Given the description of an element on the screen output the (x, y) to click on. 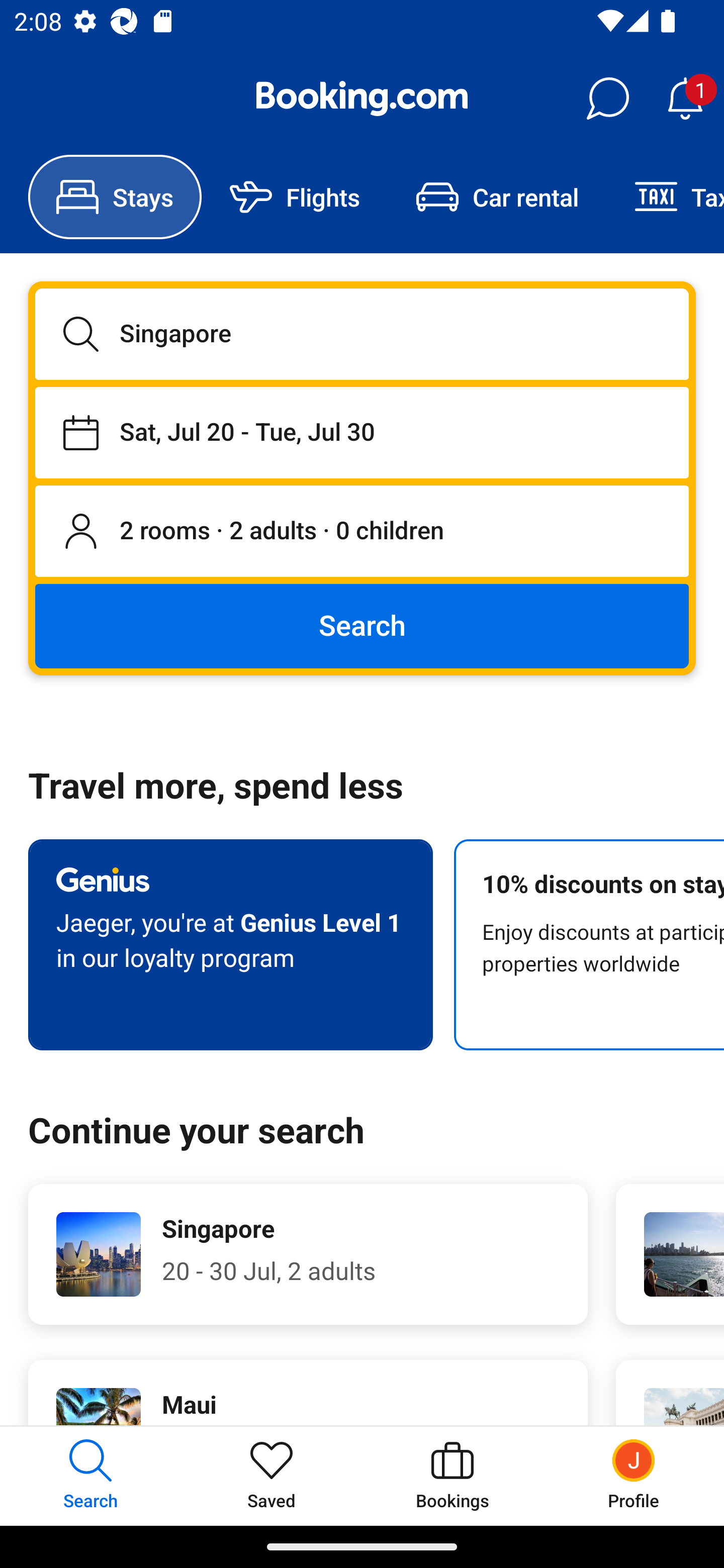
Messages (607, 98)
Notifications (685, 98)
Stays (114, 197)
Flights (294, 197)
Car rental (497, 197)
Taxi (665, 197)
Singapore (361, 333)
Staying from Sat, Jul 20 until Tue, Jul 30 (361, 432)
2 rooms, 2 adults, 0 children (361, 531)
Search (361, 625)
Singapore 20 - 30 Jul, 2 adults (307, 1253)
Saved (271, 1475)
Bookings (452, 1475)
Profile (633, 1475)
